Given the description of an element on the screen output the (x, y) to click on. 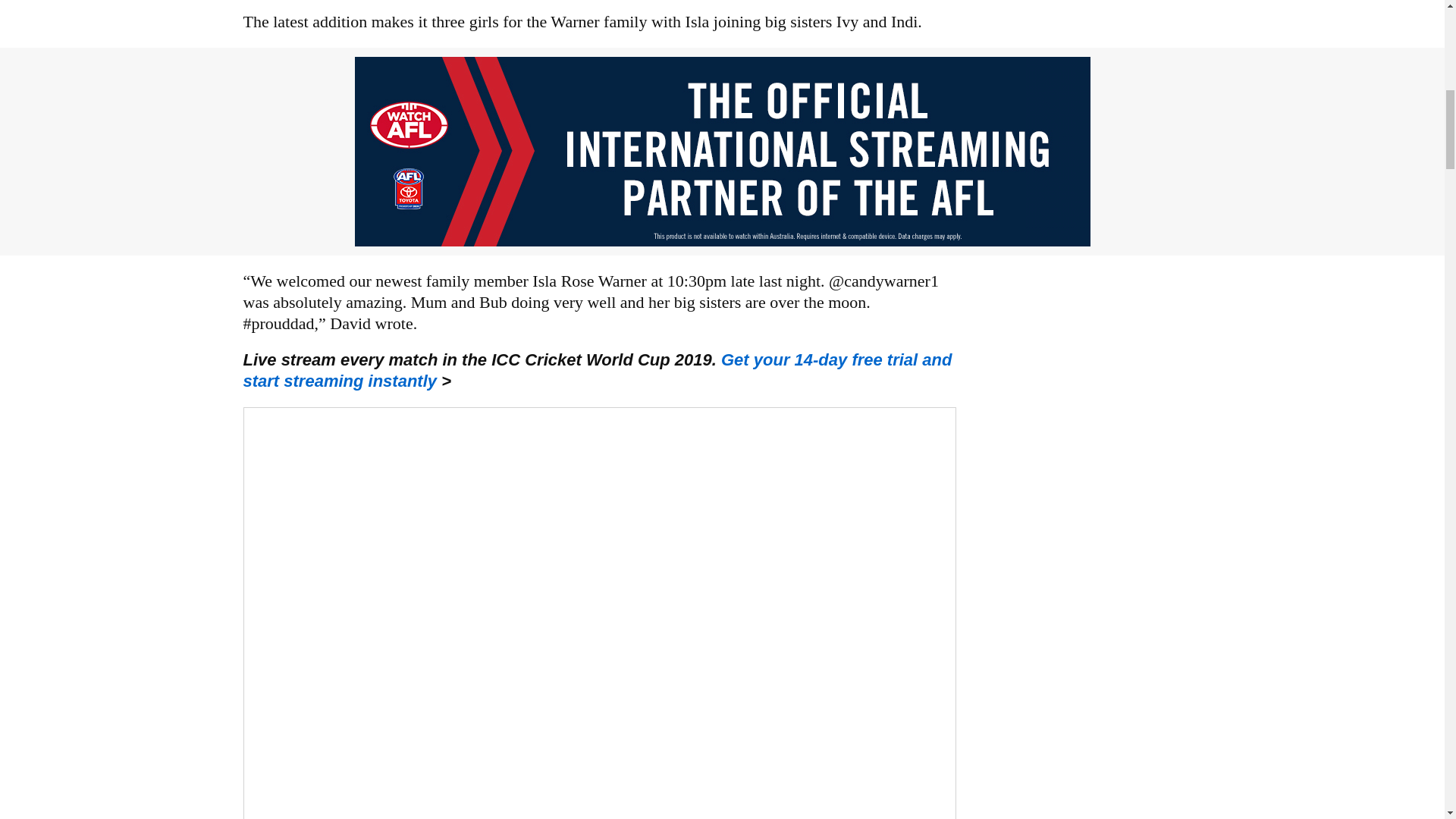
Get your 14-day free trial and start streaming instantly (597, 370)
